Given the description of an element on the screen output the (x, y) to click on. 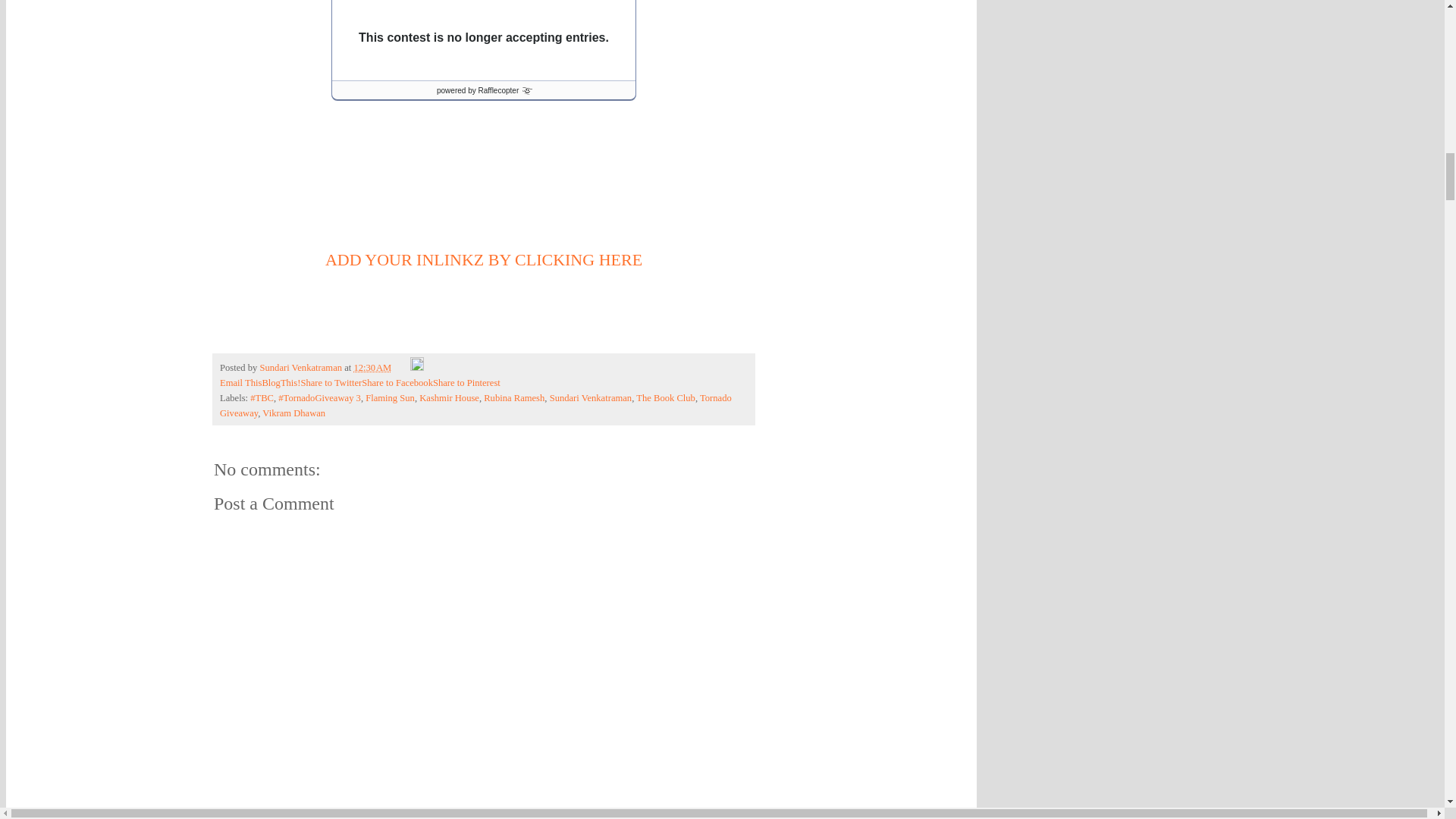
ADD YOUR INLINKZ BY CLICKING HERE (483, 259)
BlogThis! (280, 382)
Sundari Venkatraman (590, 398)
Edit Post (416, 367)
Share to Twitter (330, 382)
Kashmir House (449, 398)
Email Post (401, 367)
Email This (240, 382)
Share to Facebook (396, 382)
Rubina Ramesh (513, 398)
Flaming Sun (389, 398)
BlogThis! (280, 382)
permanent link (372, 367)
Email This (240, 382)
